Given the description of an element on the screen output the (x, y) to click on. 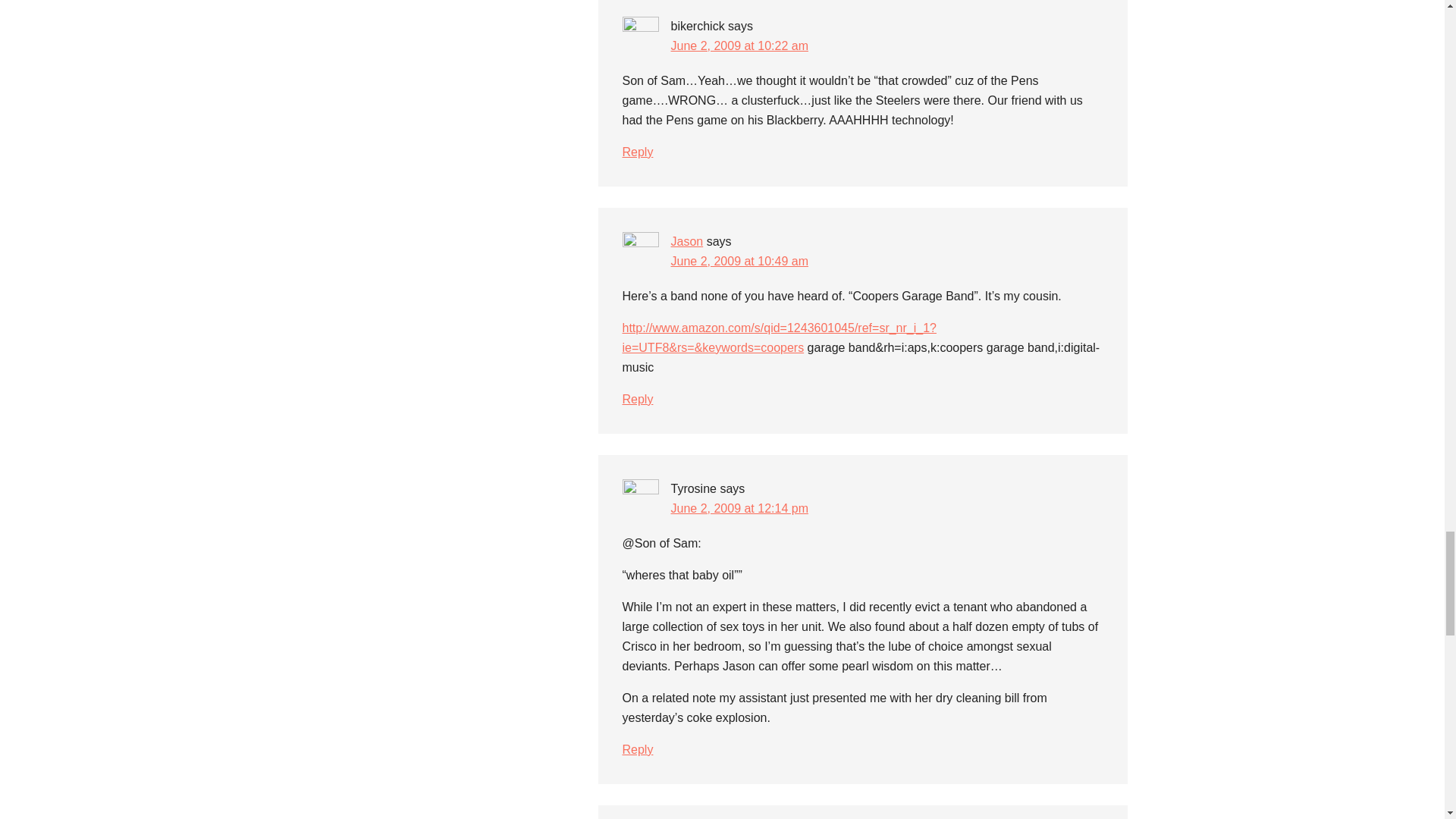
June 2, 2009 at 12:14 pm (738, 508)
June 2, 2009 at 10:49 am (738, 260)
Reply (636, 748)
Reply (636, 399)
Reply (636, 151)
June 2, 2009 at 10:22 am (738, 45)
Jason (686, 241)
